Given the description of an element on the screen output the (x, y) to click on. 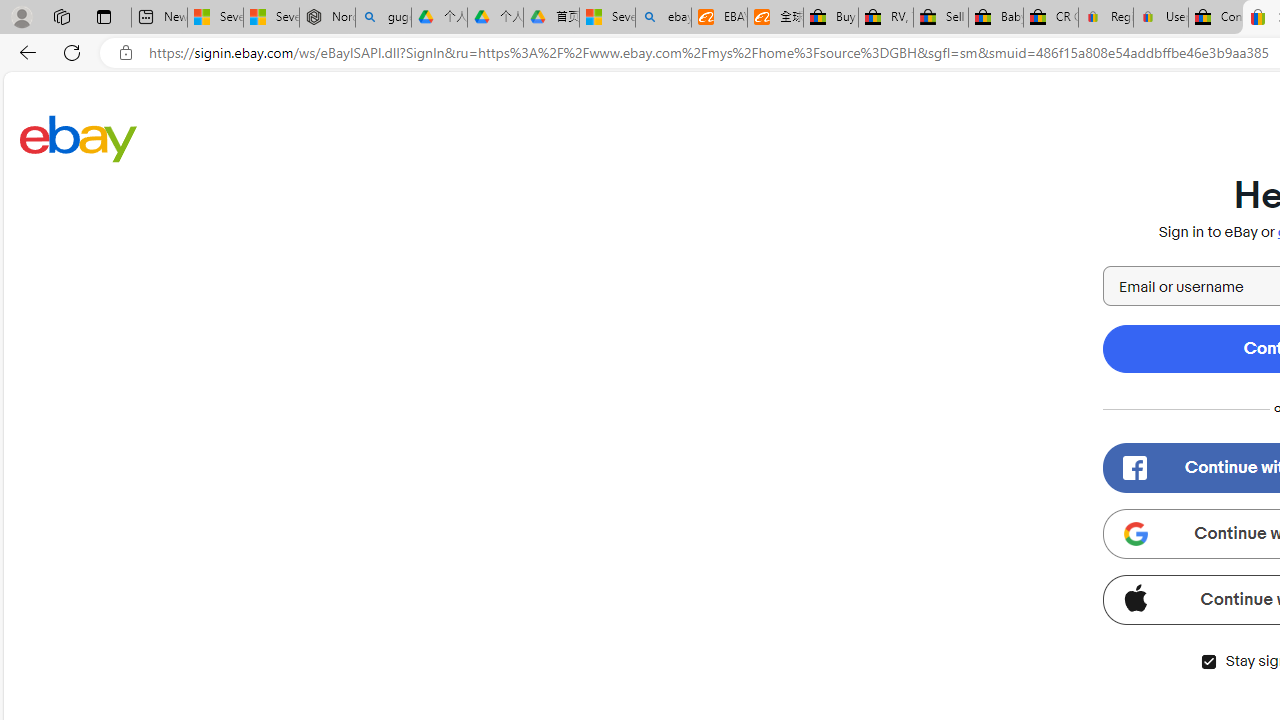
Consumer Health Data Privacy Policy - eBay Inc. (1215, 17)
Class: fb-icon (1134, 467)
eBay Home (78, 138)
User Privacy Notice | eBay (1160, 17)
